Given the description of an element on the screen output the (x, y) to click on. 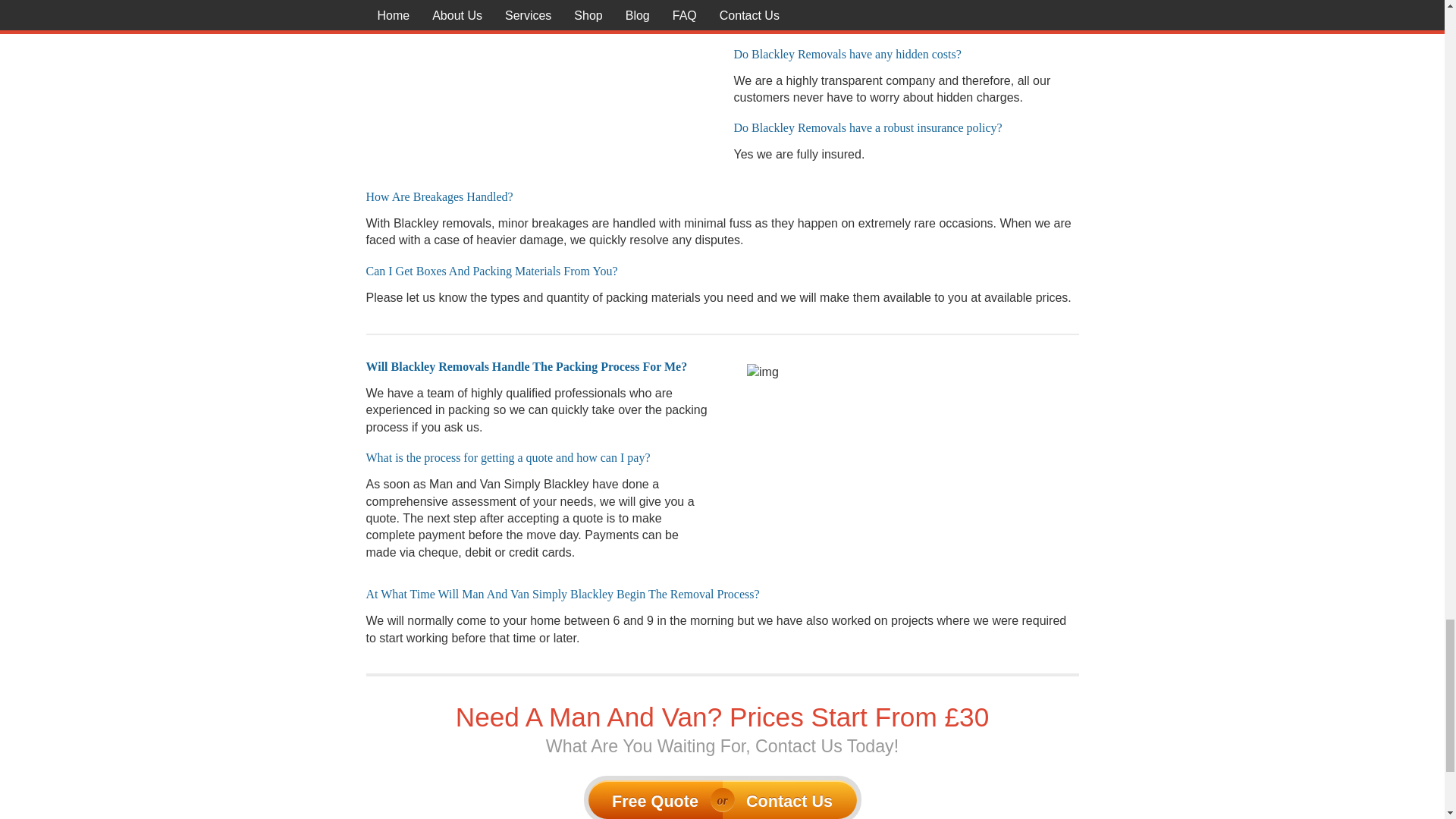
Contact Us (789, 799)
Free Quote (655, 799)
